Given the description of an element on the screen output the (x, y) to click on. 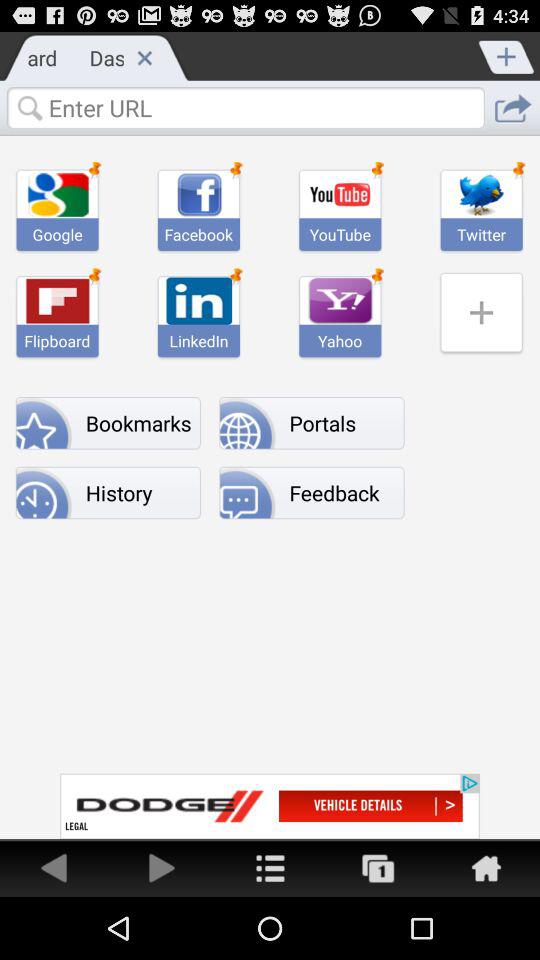
search box (245, 107)
